Given the description of an element on the screen output the (x, y) to click on. 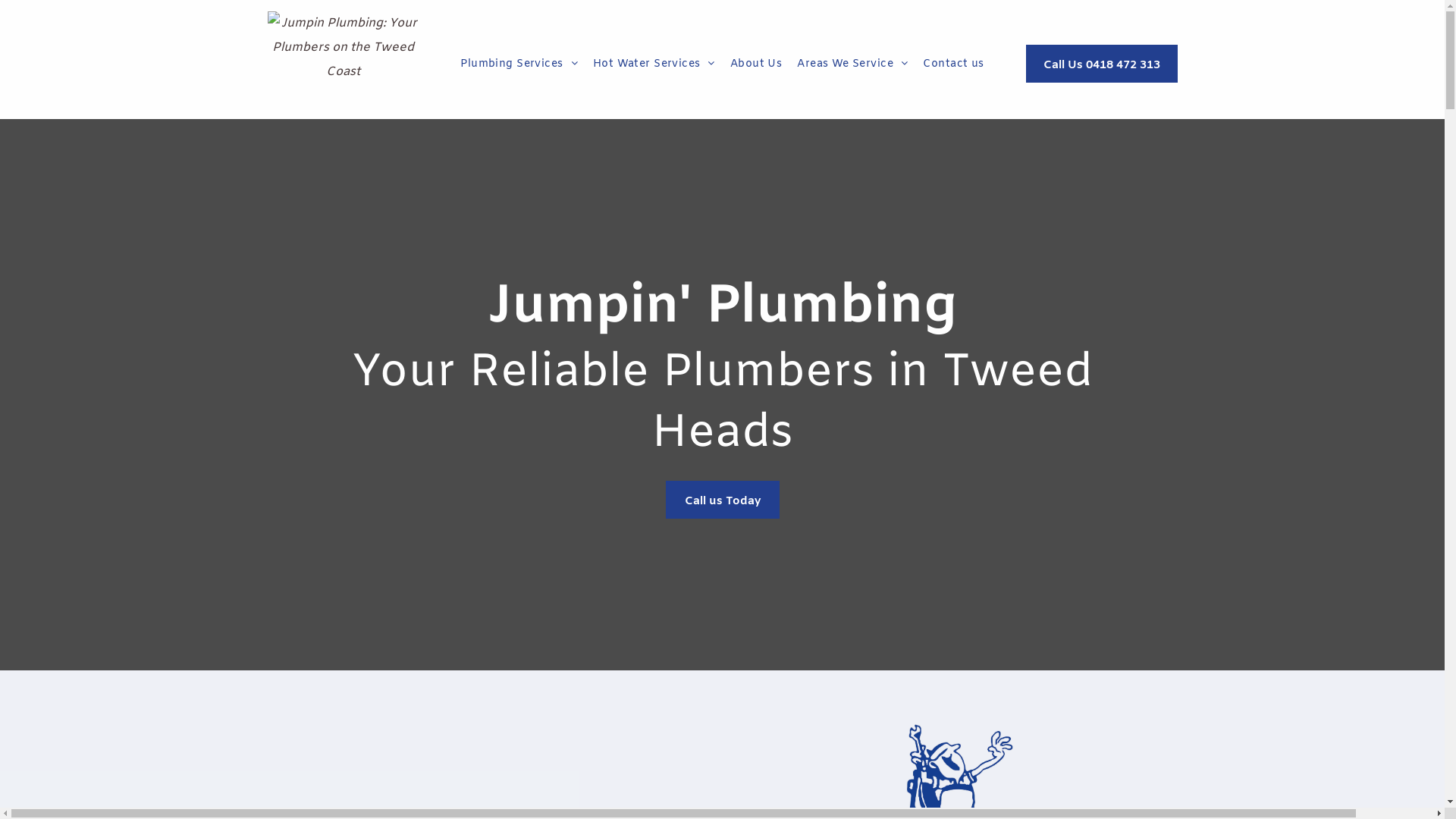
Areas We Service Element type: text (852, 64)
Call Us 0418 472 313 Element type: text (1100, 63)
Jumpin Plumbing: Your Plumbers on the Tweed Coast Element type: hover (342, 59)
Call us Today Element type: text (722, 499)
Hot Water Services Element type: text (653, 64)
Plumbing Services Element type: text (518, 64)
About Us Element type: text (755, 64)
Contact us Element type: text (953, 64)
